Given the description of an element on the screen output the (x, y) to click on. 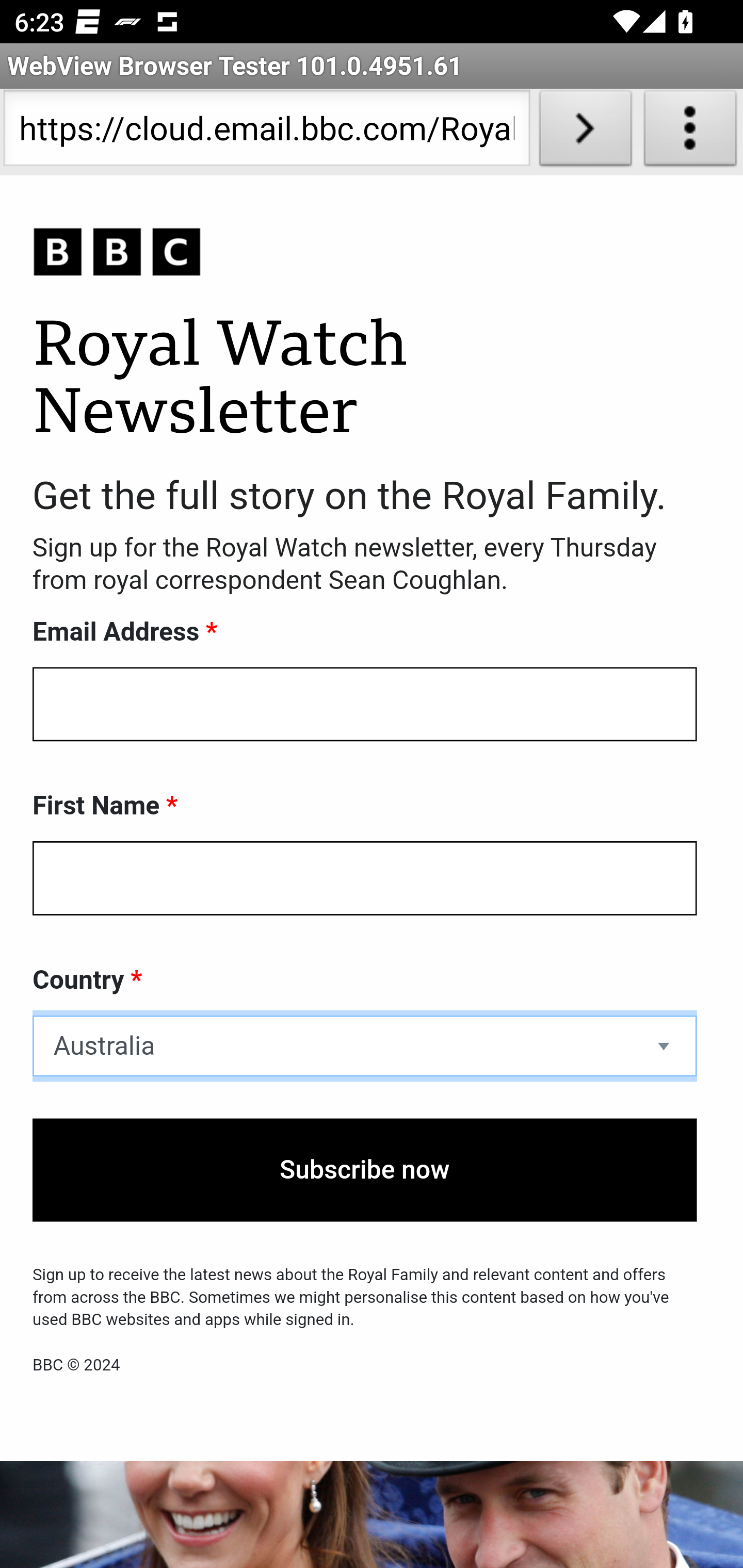
Load URL (585, 132)
About WebView (690, 132)
BBC (364, 253)
Australia (364, 1046)
Subscribe now (364, 1170)
